Given the description of an element on the screen output the (x, y) to click on. 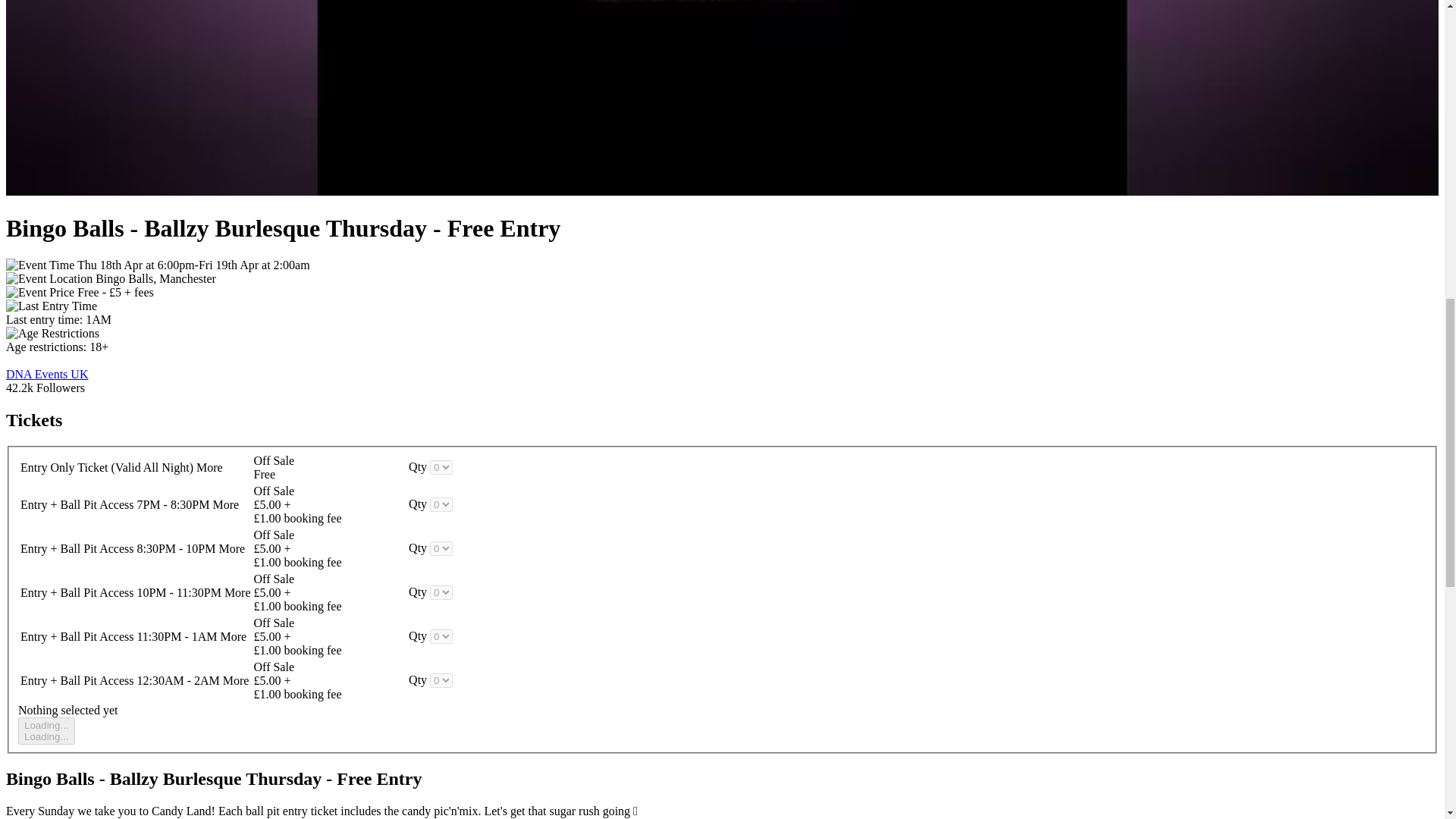
DNA Events UK (46, 730)
More (46, 373)
More (237, 592)
More (235, 680)
More (234, 635)
More (209, 467)
More (231, 548)
